Given the description of an element on the screen output the (x, y) to click on. 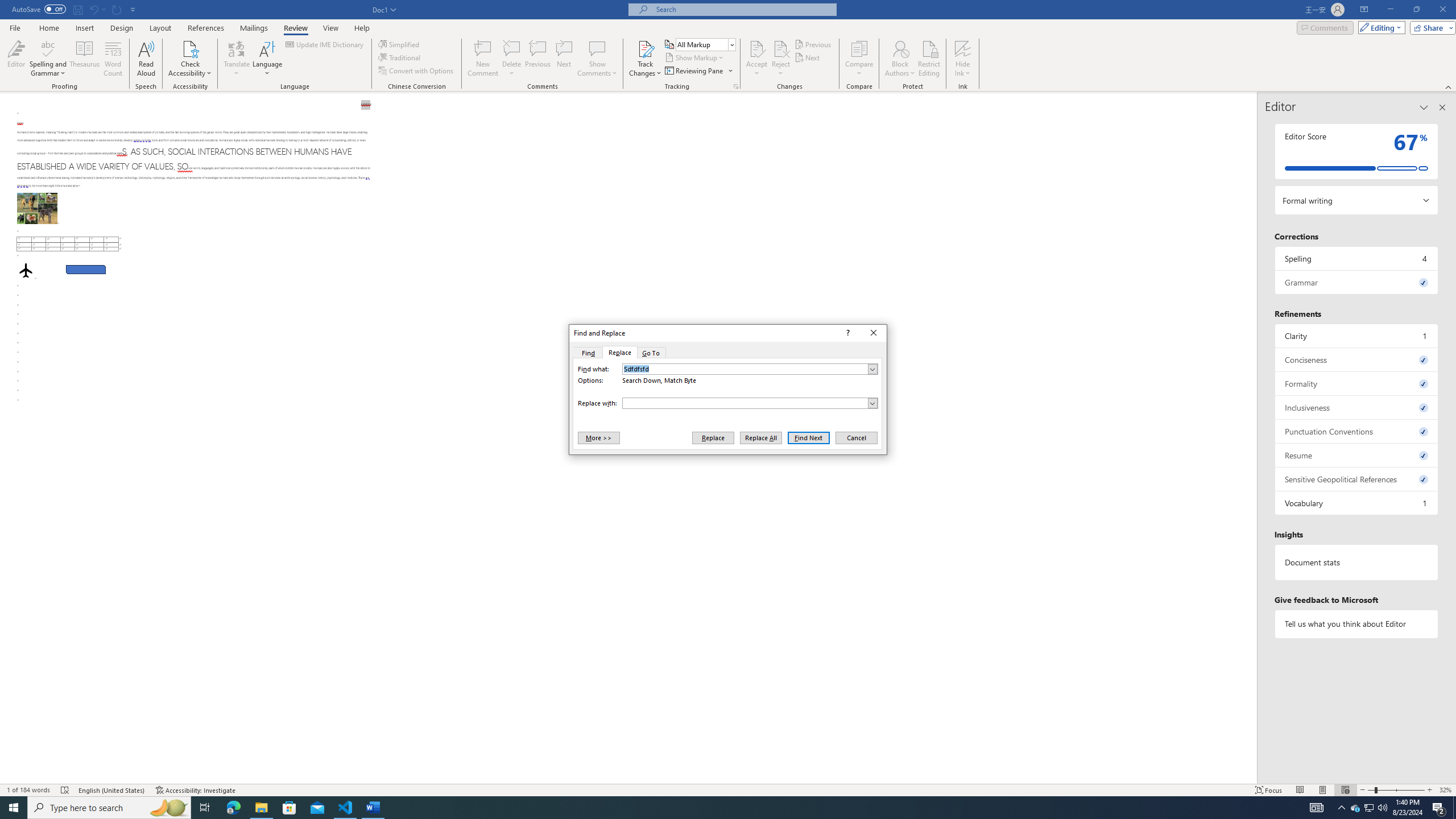
Repeat Paragraph Alignment (1368, 807)
Go To (117, 9)
Document statistics (651, 352)
Change Tracking Options... (1356, 561)
Display for Review (735, 85)
Reject and Move to Next (705, 44)
Vocabulary, 1 issue. Press space or enter to review items. (780, 48)
